Given the description of an element on the screen output the (x, y) to click on. 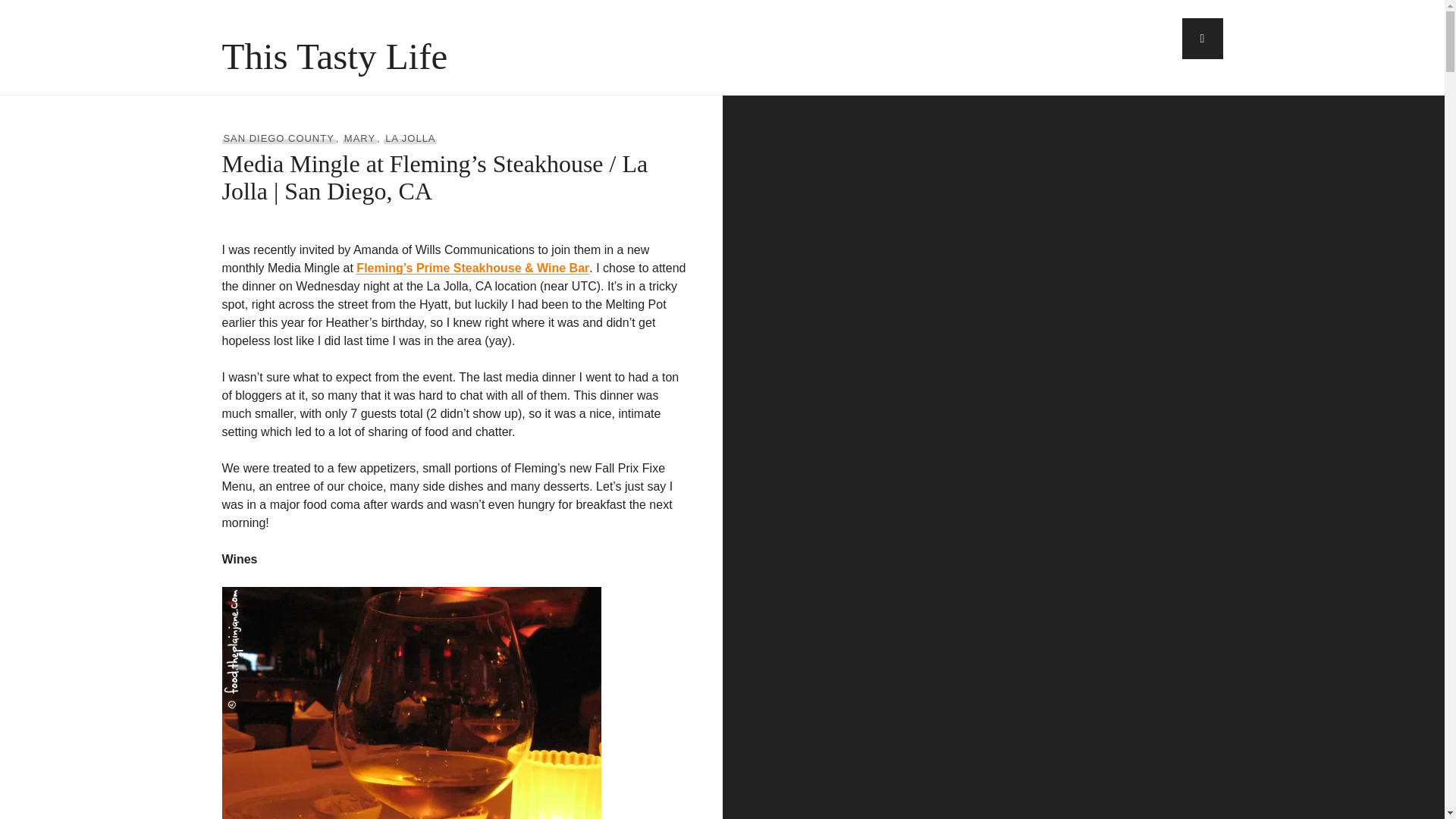
Von Buhl Riesling Pfalz Medium Dry Jazz Germany 2008 (410, 703)
This Tasty Life (333, 56)
MENU (1201, 38)
